Given the description of an element on the screen output the (x, y) to click on. 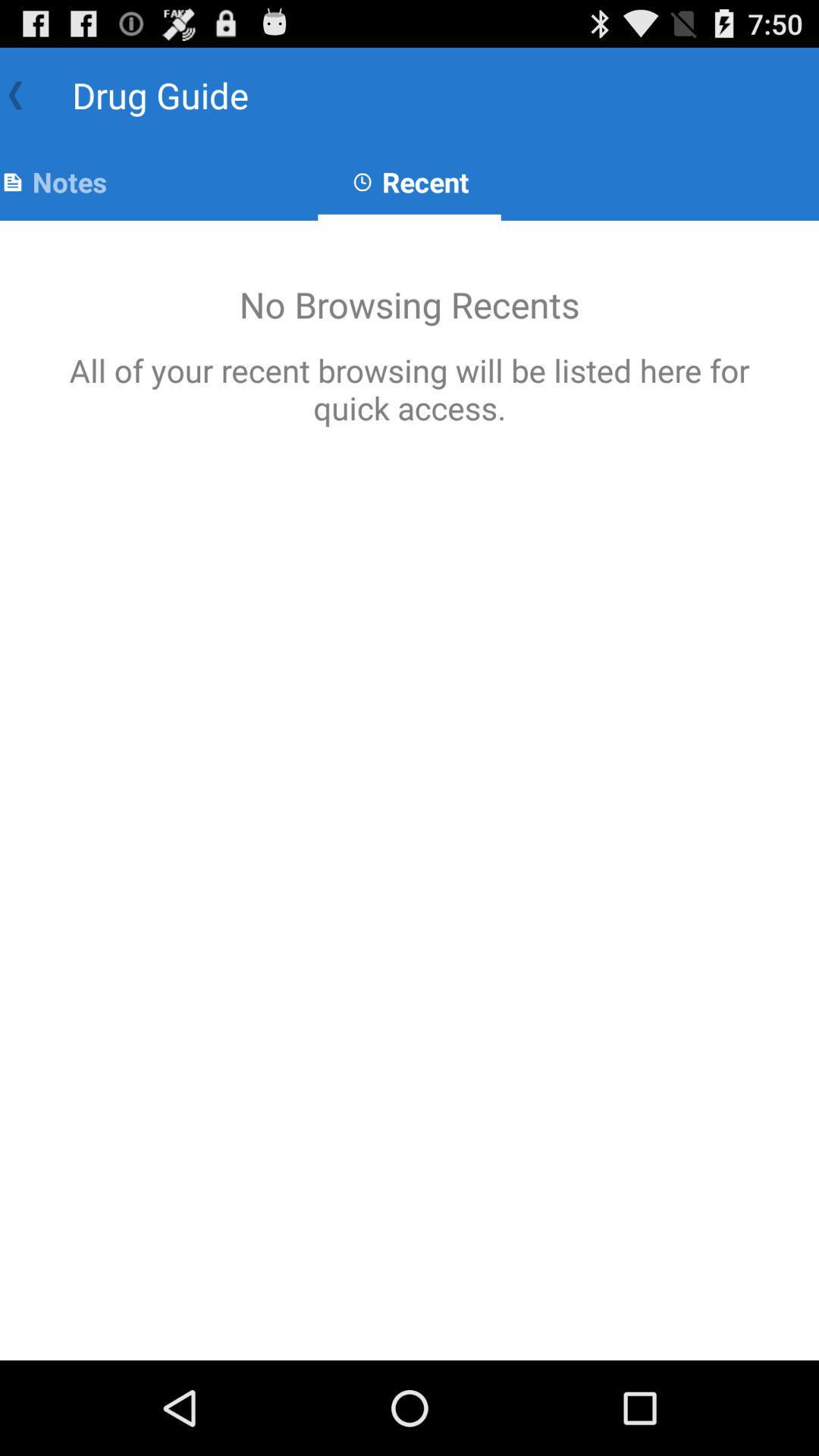
flip to the   notes app (53, 181)
